Given the description of an element on the screen output the (x, y) to click on. 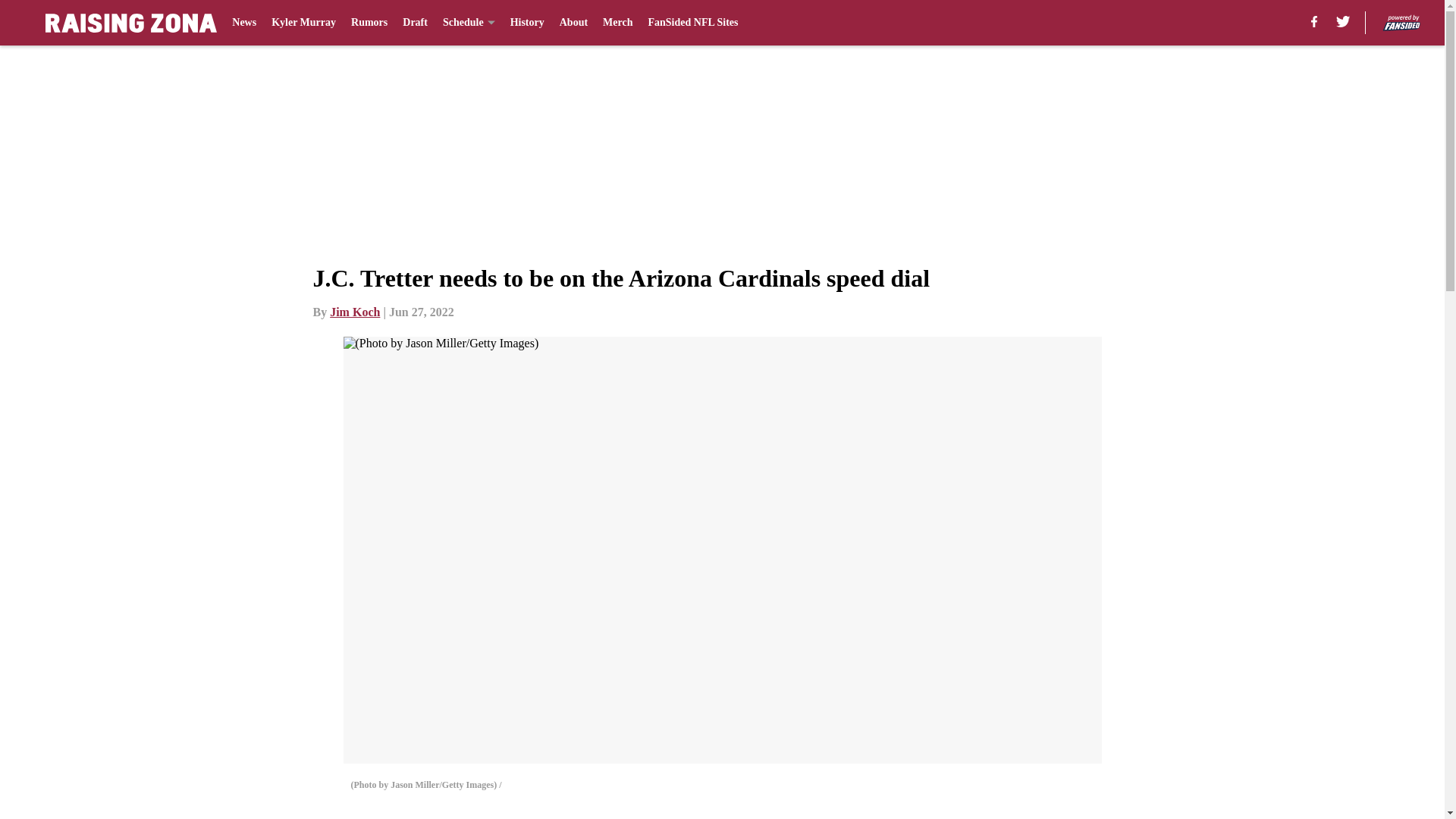
News (243, 22)
About (573, 22)
FanSided NFL Sites (692, 22)
Merch (616, 22)
Kyler Murray (303, 22)
Draft (415, 22)
History (527, 22)
Jim Koch (355, 311)
Rumors (368, 22)
